Given the description of an element on the screen output the (x, y) to click on. 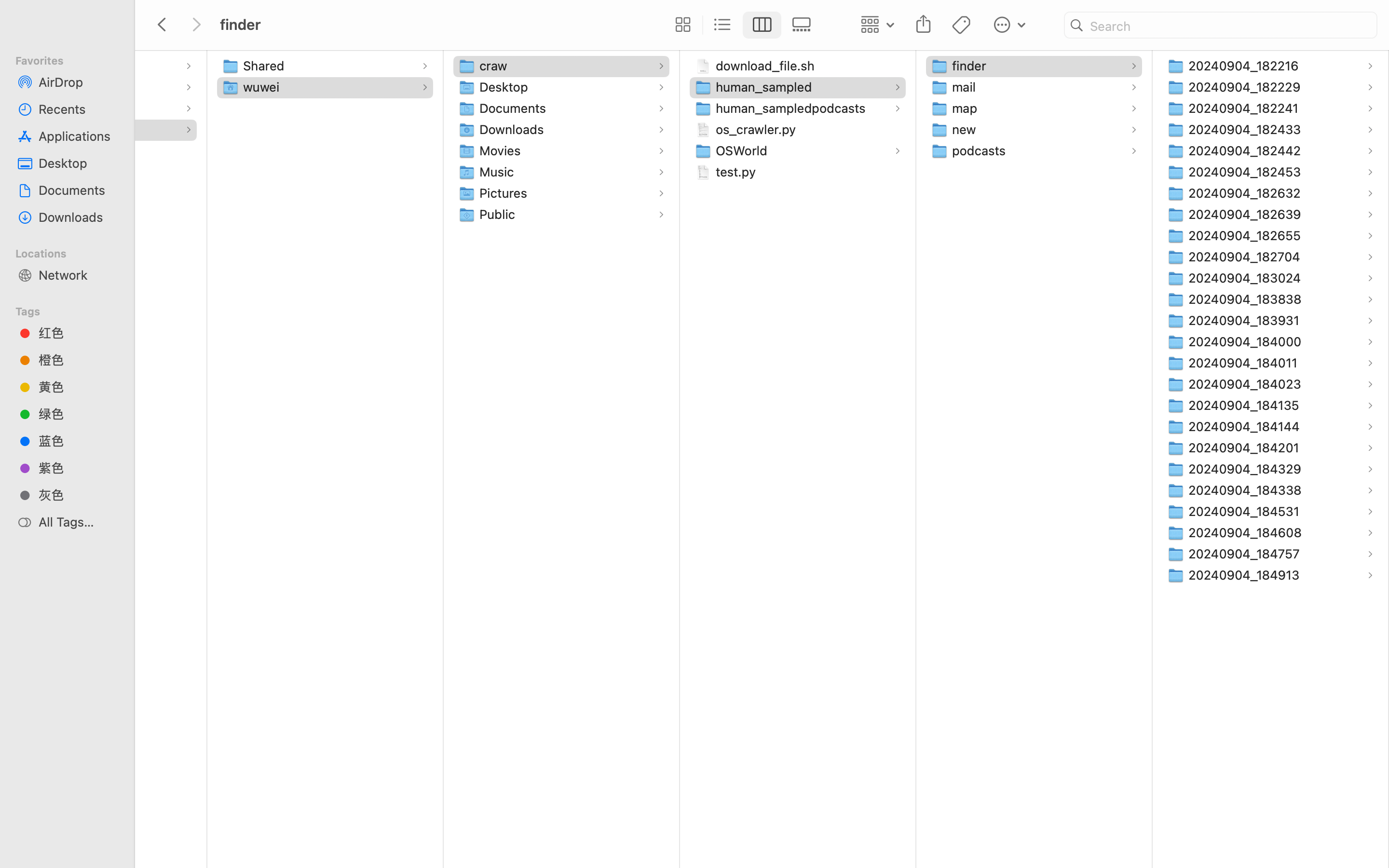
橙色 Element type: AXStaticText (77, 359)
黄色 Element type: AXStaticText (77, 386)
Downloads Element type: AXStaticText (77, 216)
20240904_184144 Element type: AXTextField (1246, 426)
finder Element type: AXStaticText (437, 827)
